Given the description of an element on the screen output the (x, y) to click on. 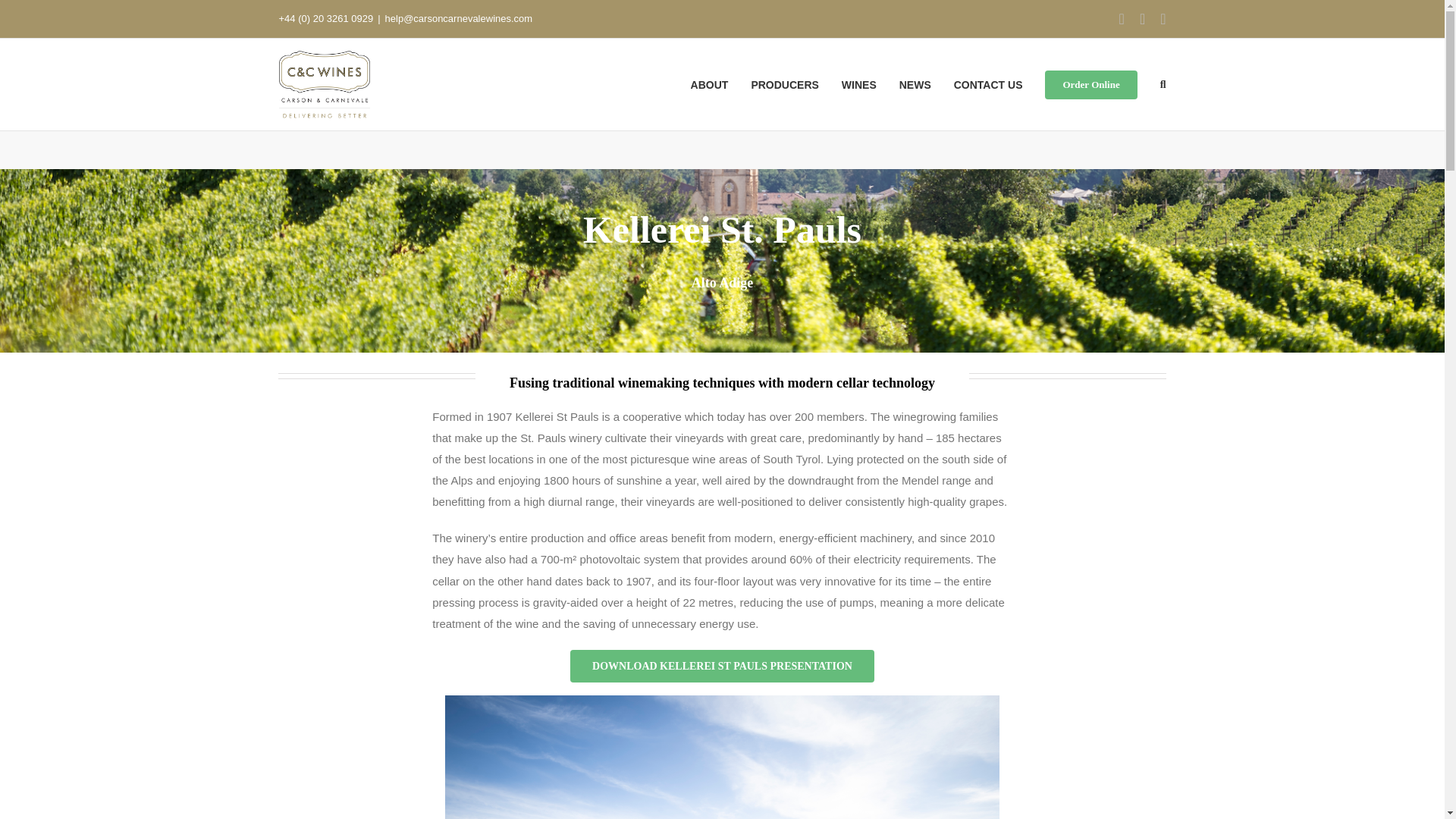
DOWNLOAD KELLEREI ST PAULS PRESENTATION (722, 666)
St Pauls (721, 757)
Order Online (1091, 84)
